Given the description of an element on the screen output the (x, y) to click on. 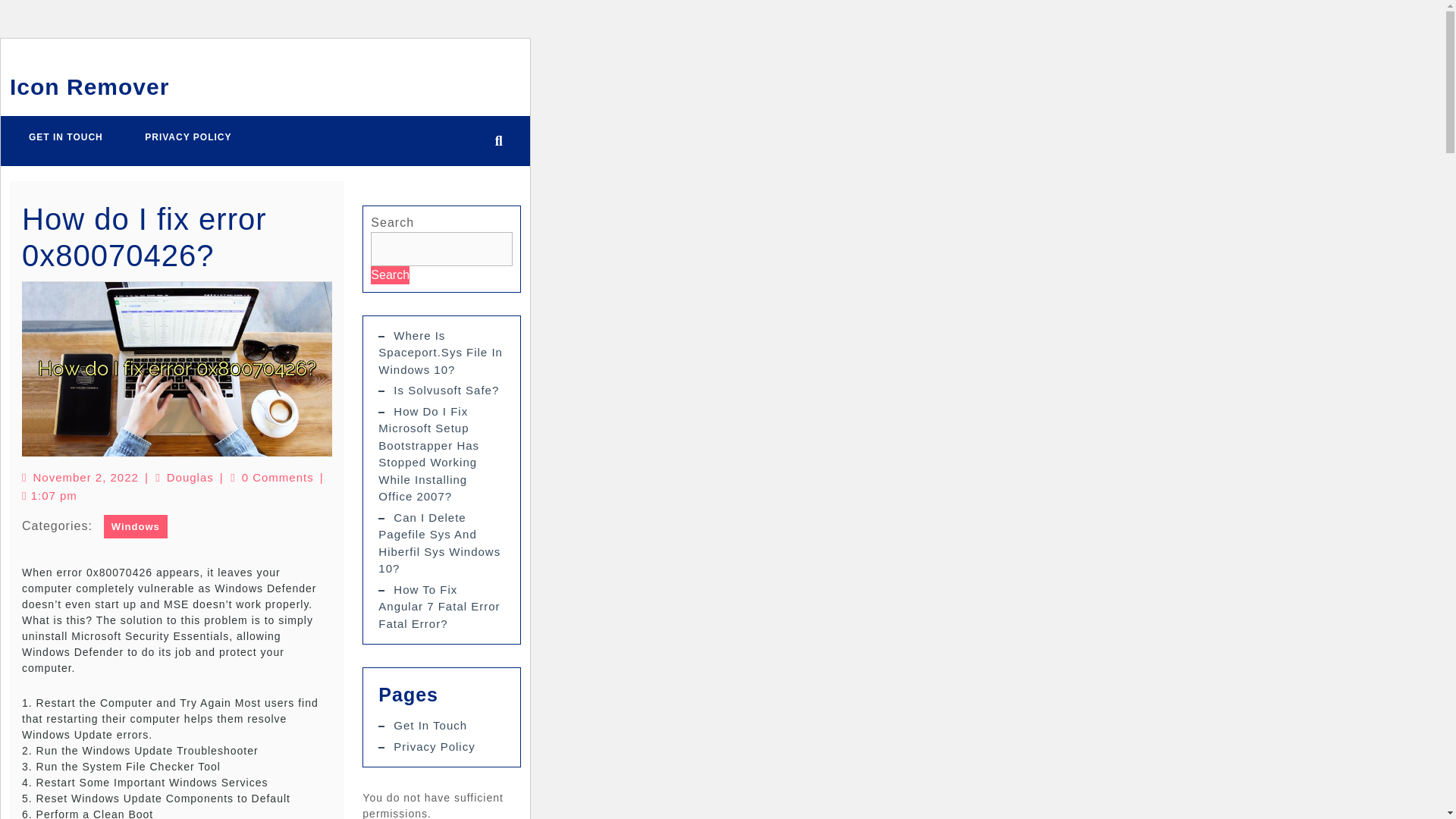
Icon Remover (89, 86)
November 2, 2022 (85, 477)
Douglas (190, 477)
Search (390, 274)
Is Solvusoft Safe? (446, 390)
Where Is Spaceport.Sys File In Windows 10? (440, 351)
GET IN TOUCH (66, 136)
Windows (135, 526)
PRIVACY POLICY (187, 136)
